Given the description of an element on the screen output the (x, y) to click on. 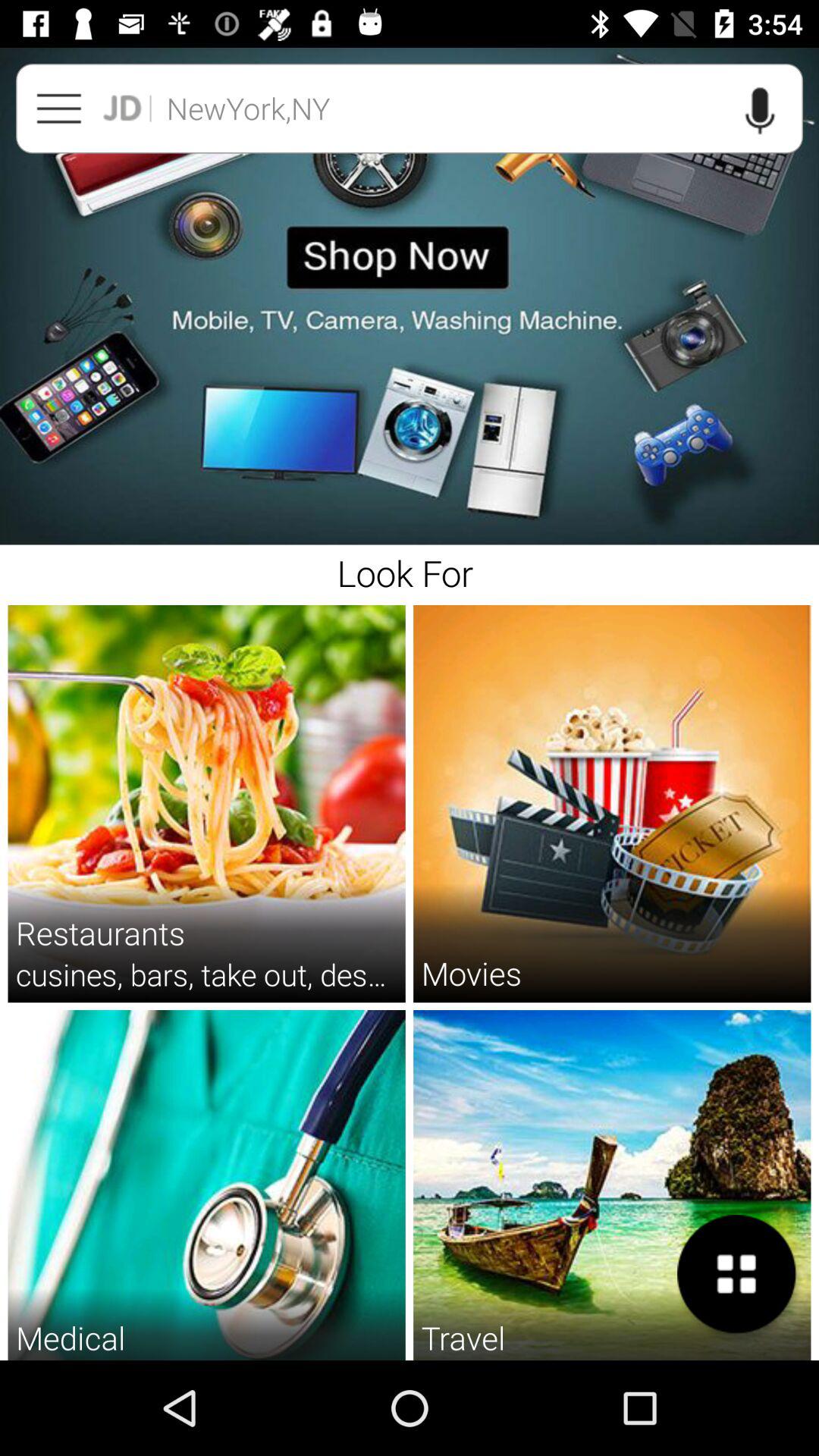
swipe until the cusines bars take (206, 974)
